Given the description of an element on the screen output the (x, y) to click on. 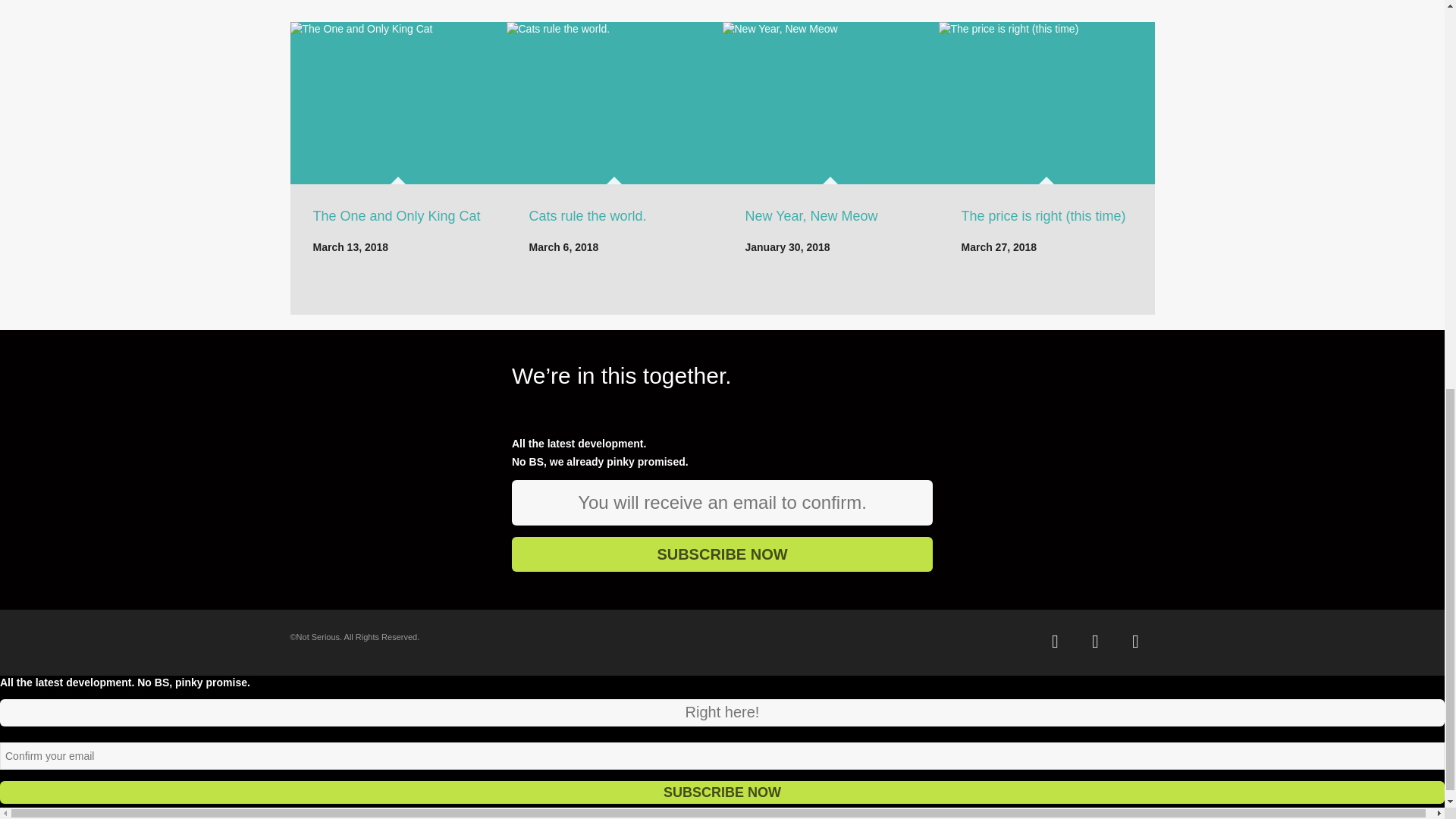
SUBSCRIBE NOW (722, 554)
SUBSCRIBE NOW (722, 554)
New Year, New Meow (810, 215)
SUBSCRIBE NOW (722, 791)
The One and Only King Cat (396, 215)
Cats rule the world. (587, 215)
SUBSCRIBE NOW (722, 791)
